Given the description of an element on the screen output the (x, y) to click on. 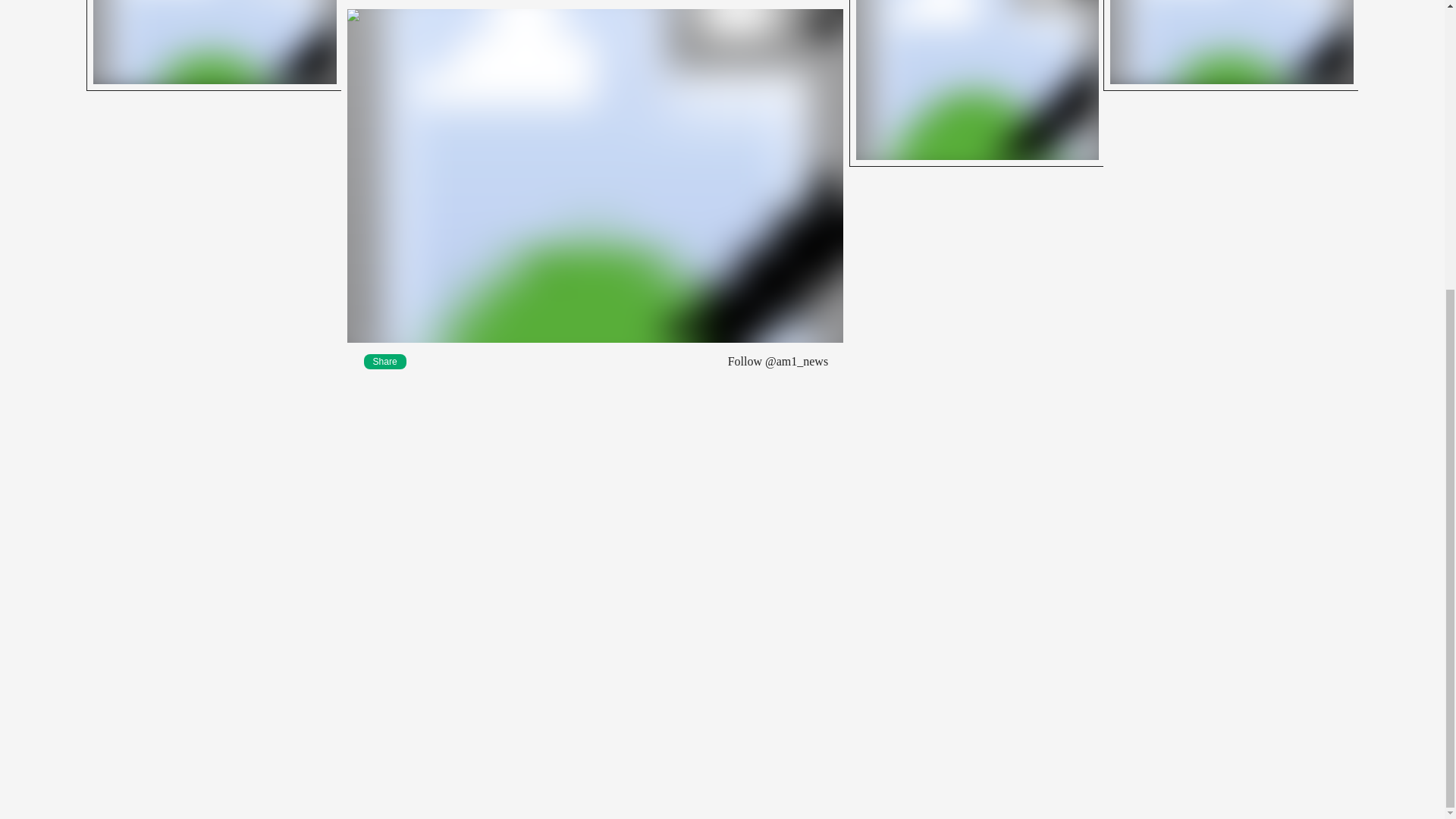
Share (385, 361)
